Given the description of an element on the screen output the (x, y) to click on. 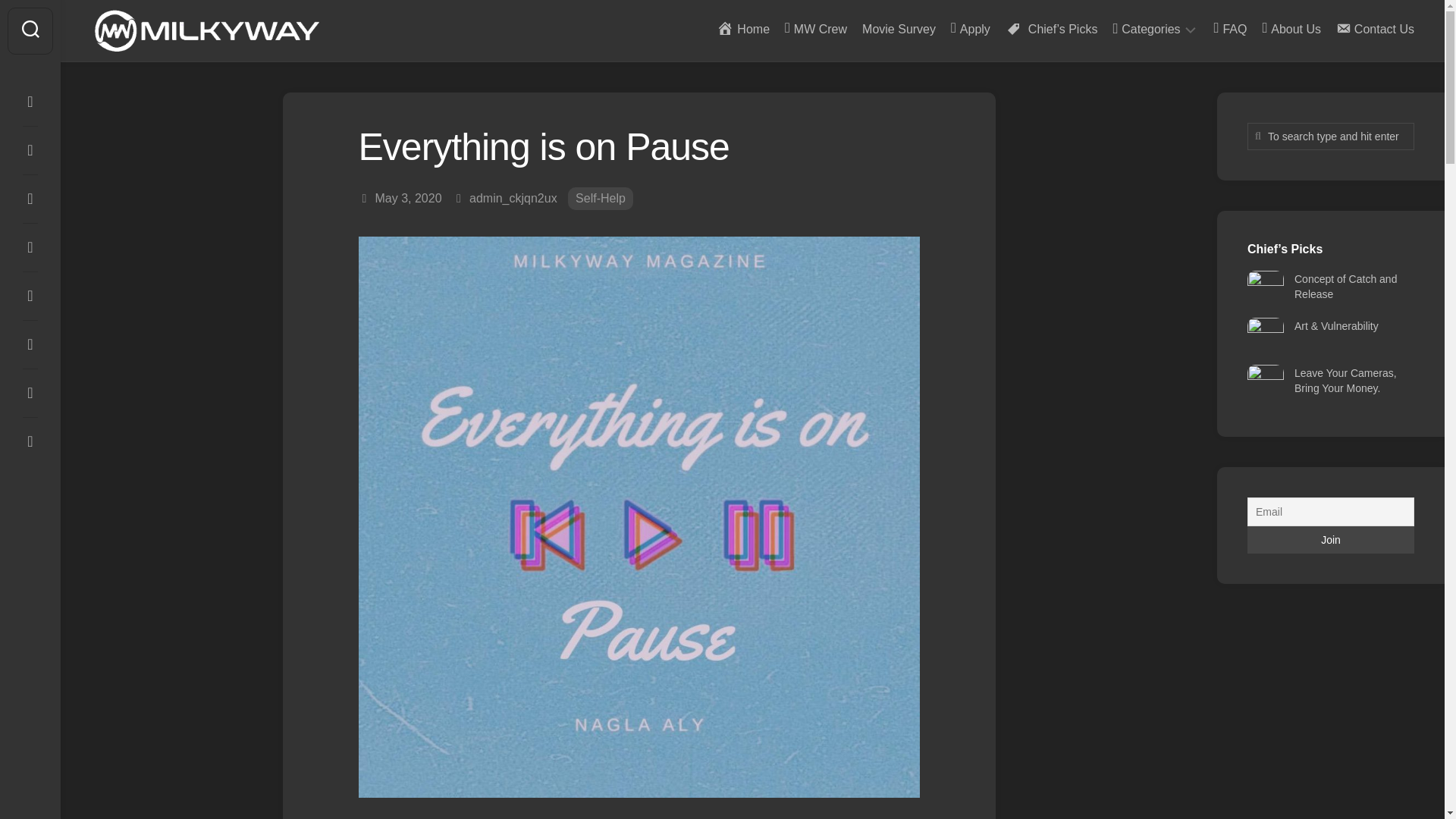
Home (743, 29)
Contact Us (1374, 29)
Join (1330, 539)
About Us (1291, 29)
Categories (1145, 29)
Movie Survey (898, 29)
To search type and hit enter (1330, 135)
Apply (970, 29)
FAQ (1230, 29)
To search type and hit enter (1330, 135)
